Given the description of an element on the screen output the (x, y) to click on. 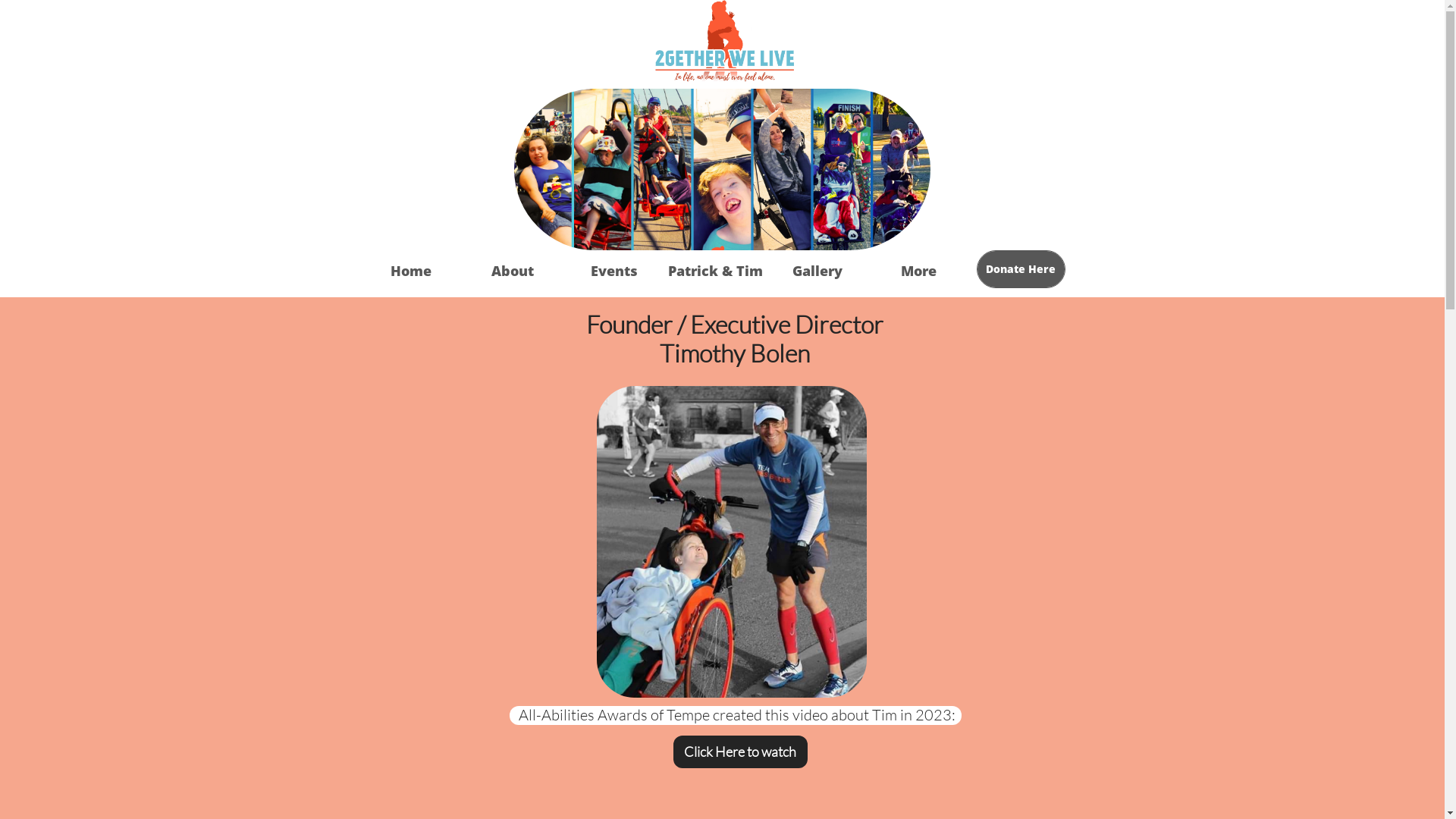
Home Element type: text (410, 270)
Gallery Element type: text (816, 270)
About Element type: text (511, 270)
Donate Here Element type: text (1020, 269)
Click Here to watch Element type: text (740, 751)
Events Element type: text (613, 270)
Patrick & Tim Element type: text (714, 270)
